Given the description of an element on the screen output the (x, y) to click on. 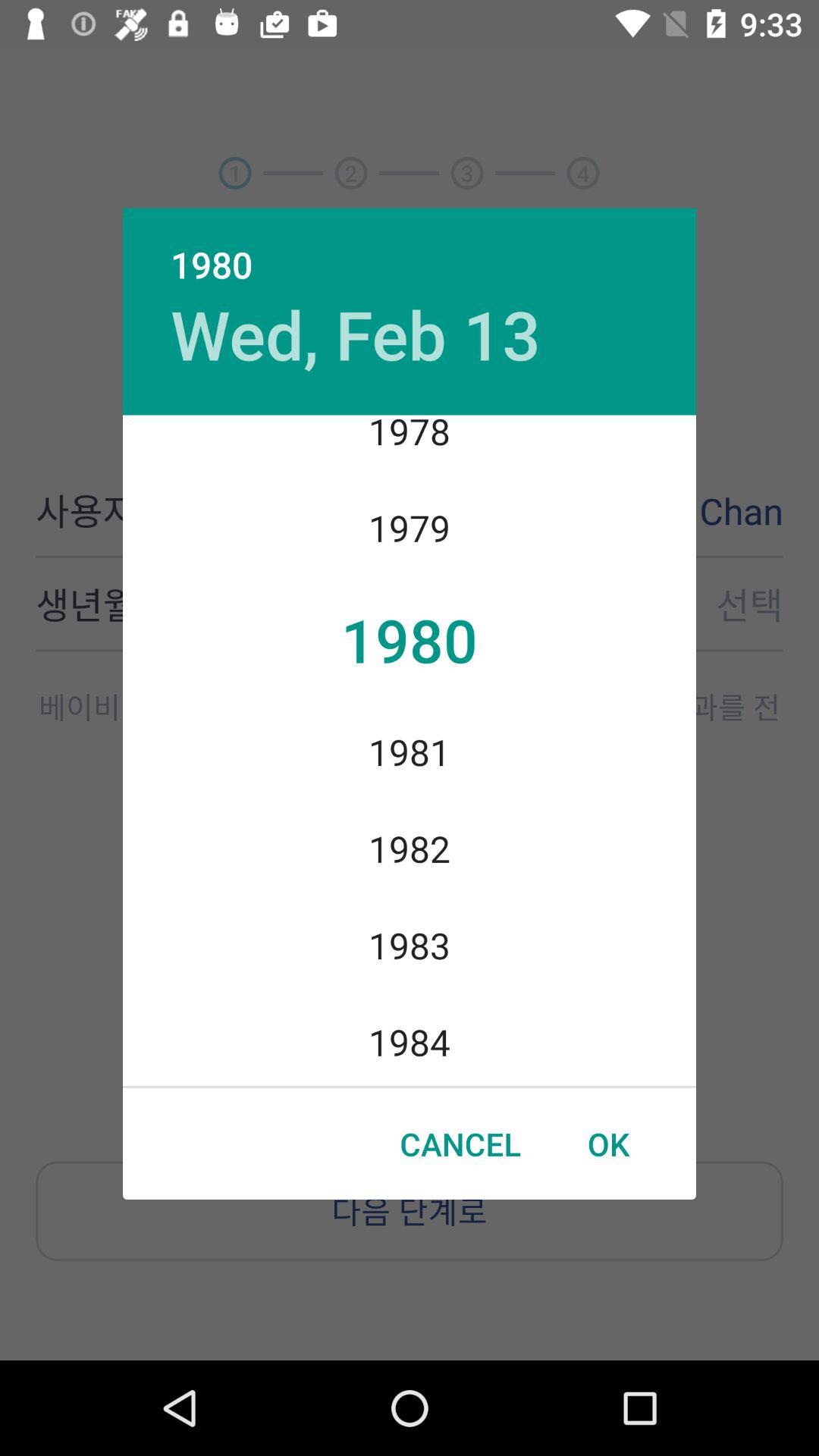
open the icon next to the cancel item (608, 1143)
